Given the description of an element on the screen output the (x, y) to click on. 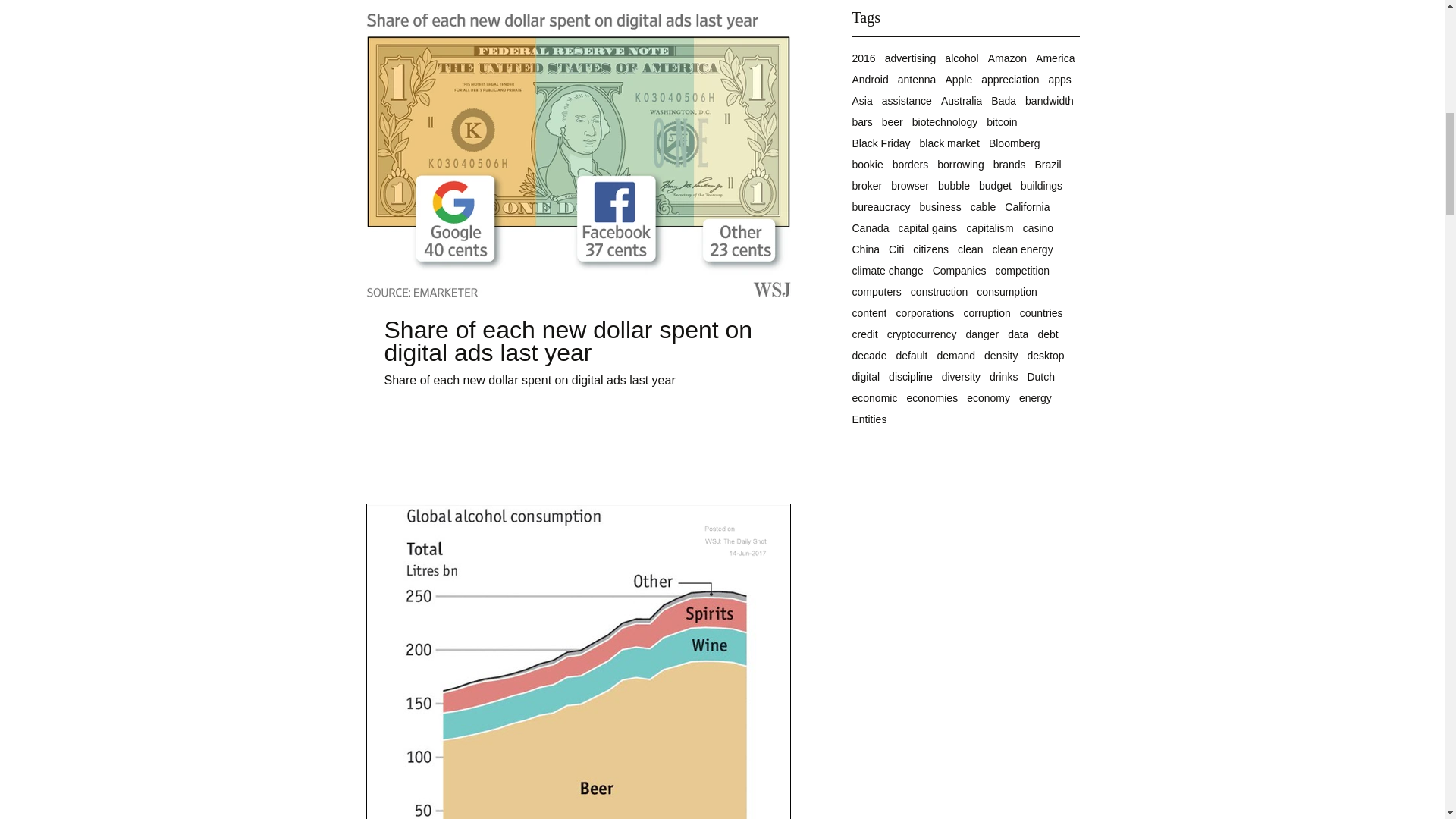
America (1054, 58)
alcohol (961, 58)
antenna (917, 79)
Asia (861, 101)
Android (869, 79)
assistance (906, 101)
Amazon (1007, 58)
apps (1059, 79)
2016 (863, 58)
